Given the description of an element on the screen output the (x, y) to click on. 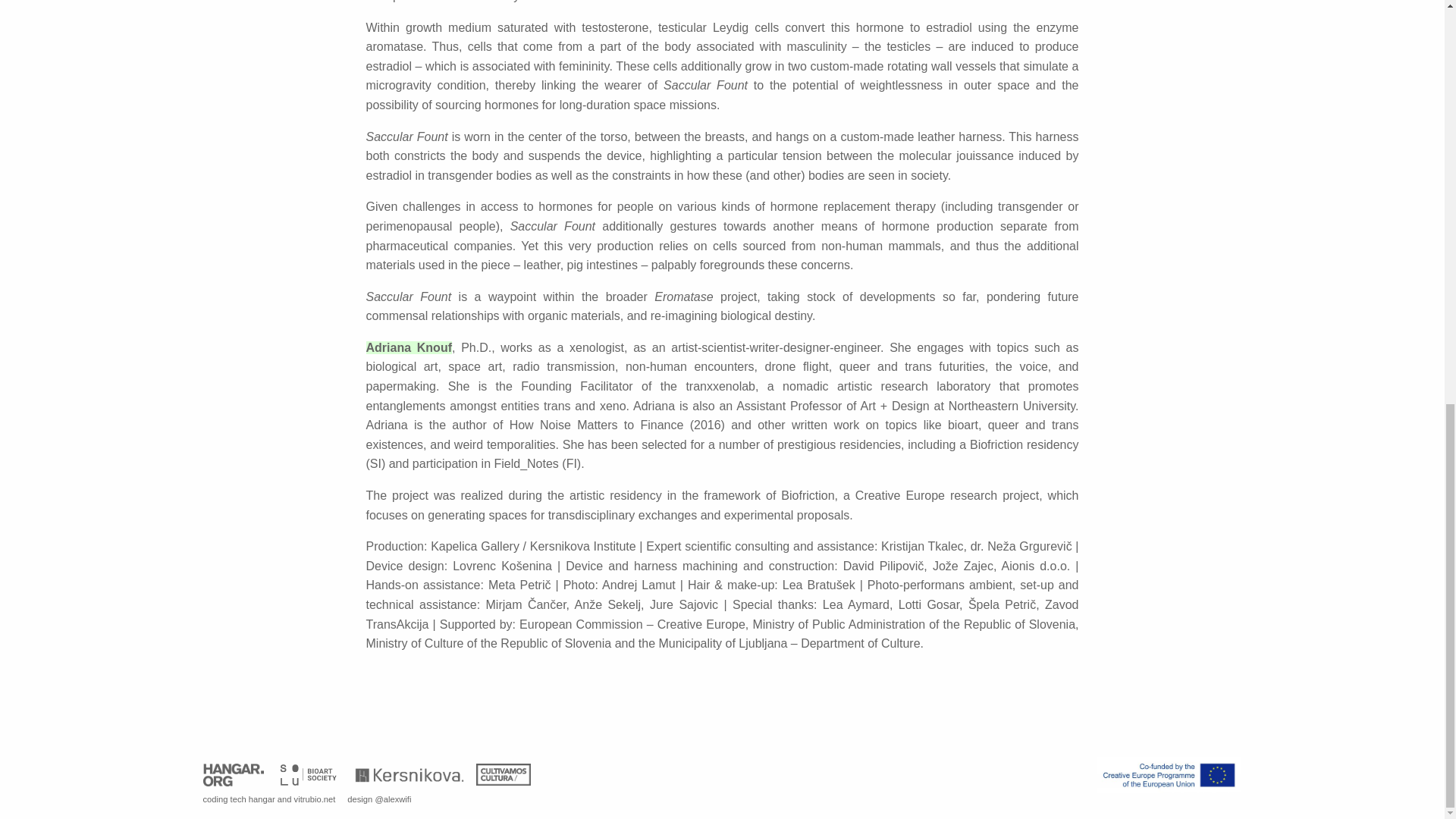
vitrubio.net (315, 798)
tech hangar (252, 798)
Hangar (233, 774)
Adriana Knouf (408, 347)
alexwifi portfolio (392, 798)
web development by vitrubio.net (315, 798)
